Given the description of an element on the screen output the (x, y) to click on. 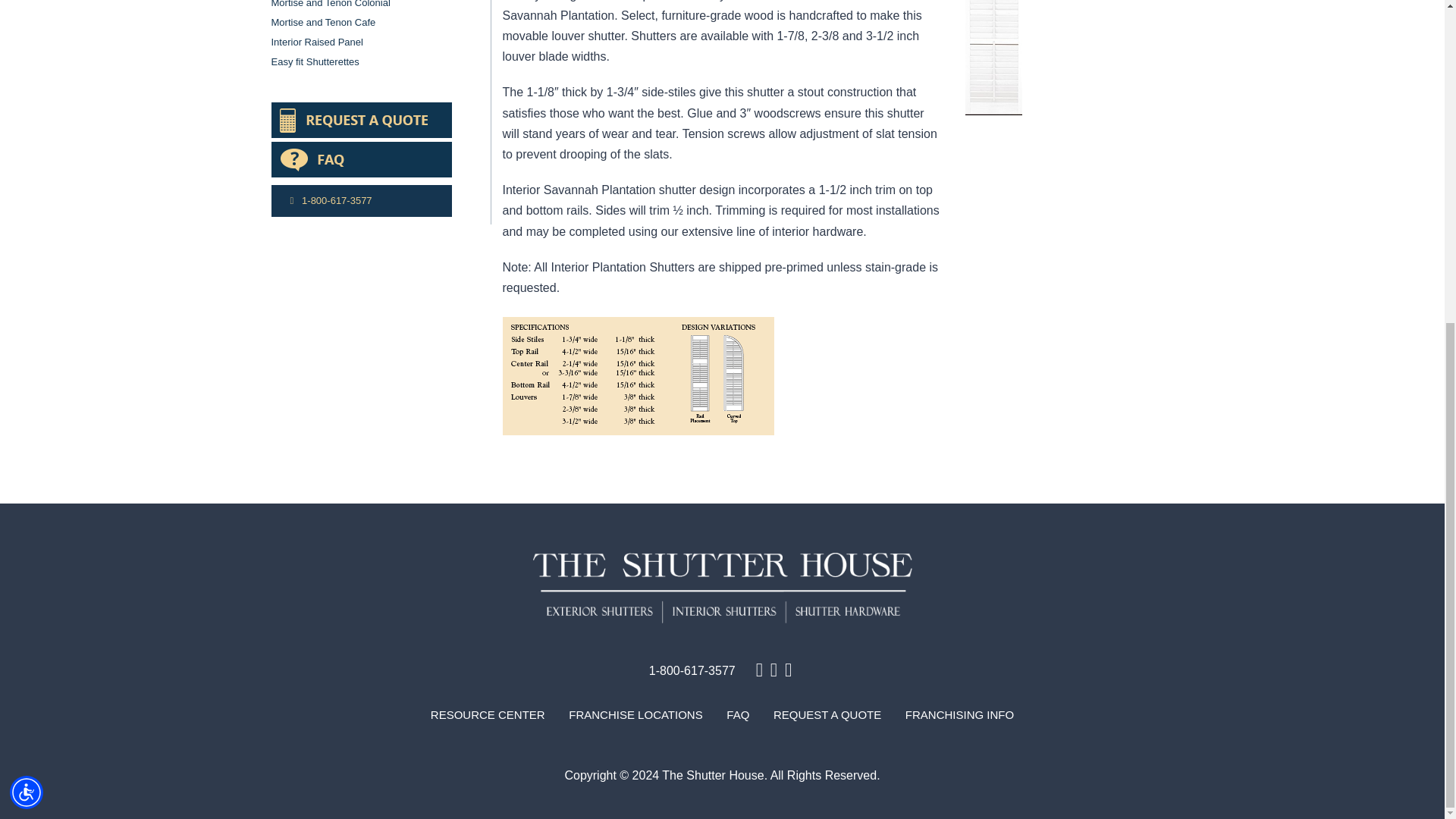
Mortise and Tenon Cafe (322, 21)
Accessibility Menu (26, 265)
Interior Raised Panel (316, 41)
Easy fit Shutterettes (314, 61)
   1-800-617-3577 (360, 201)
Mortise and Tenon Colonial (330, 4)
1-800-617-3577 (692, 670)
